Given the description of an element on the screen output the (x, y) to click on. 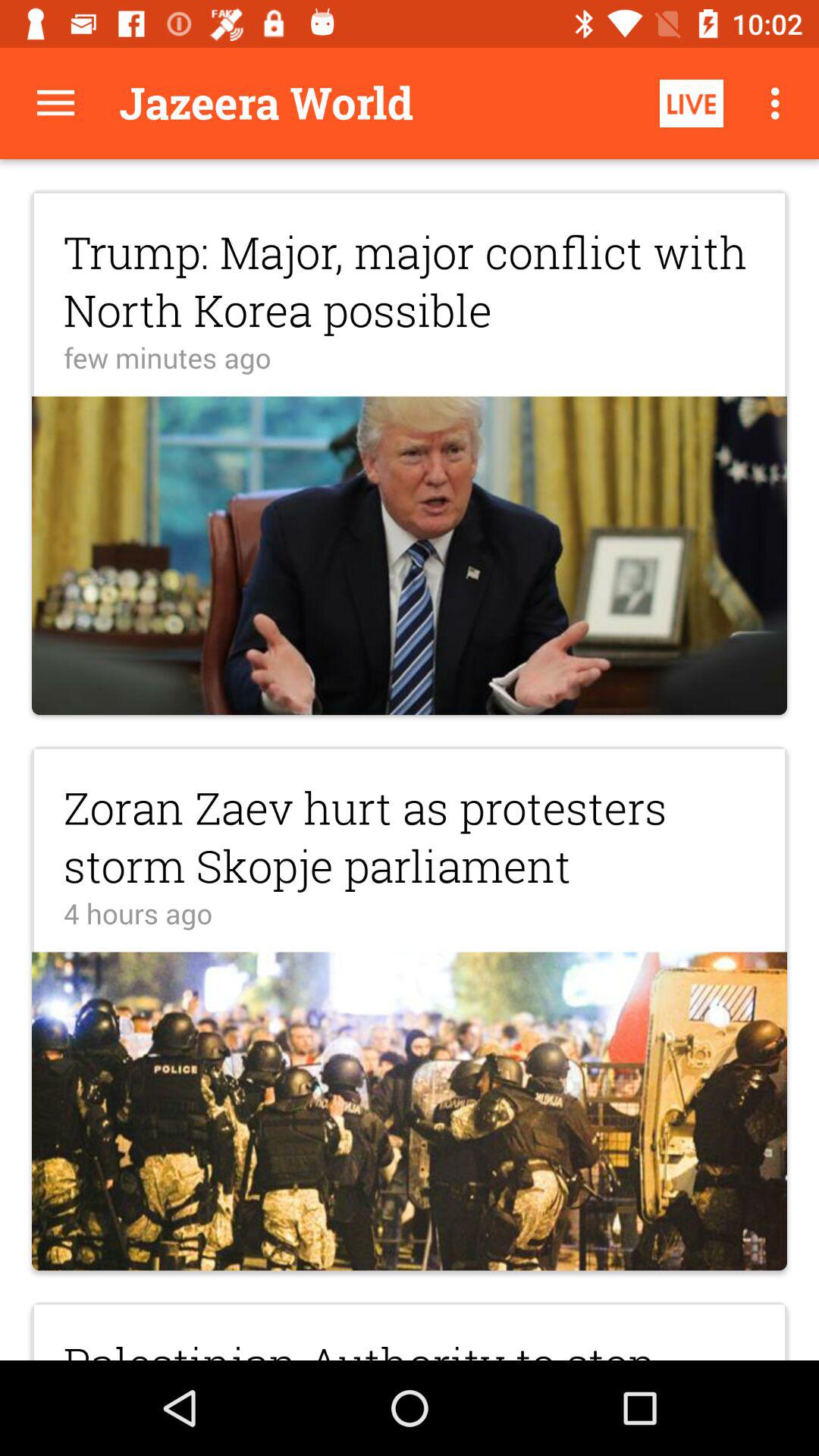
press icon to the left of jazeera world icon (55, 103)
